Given the description of an element on the screen output the (x, y) to click on. 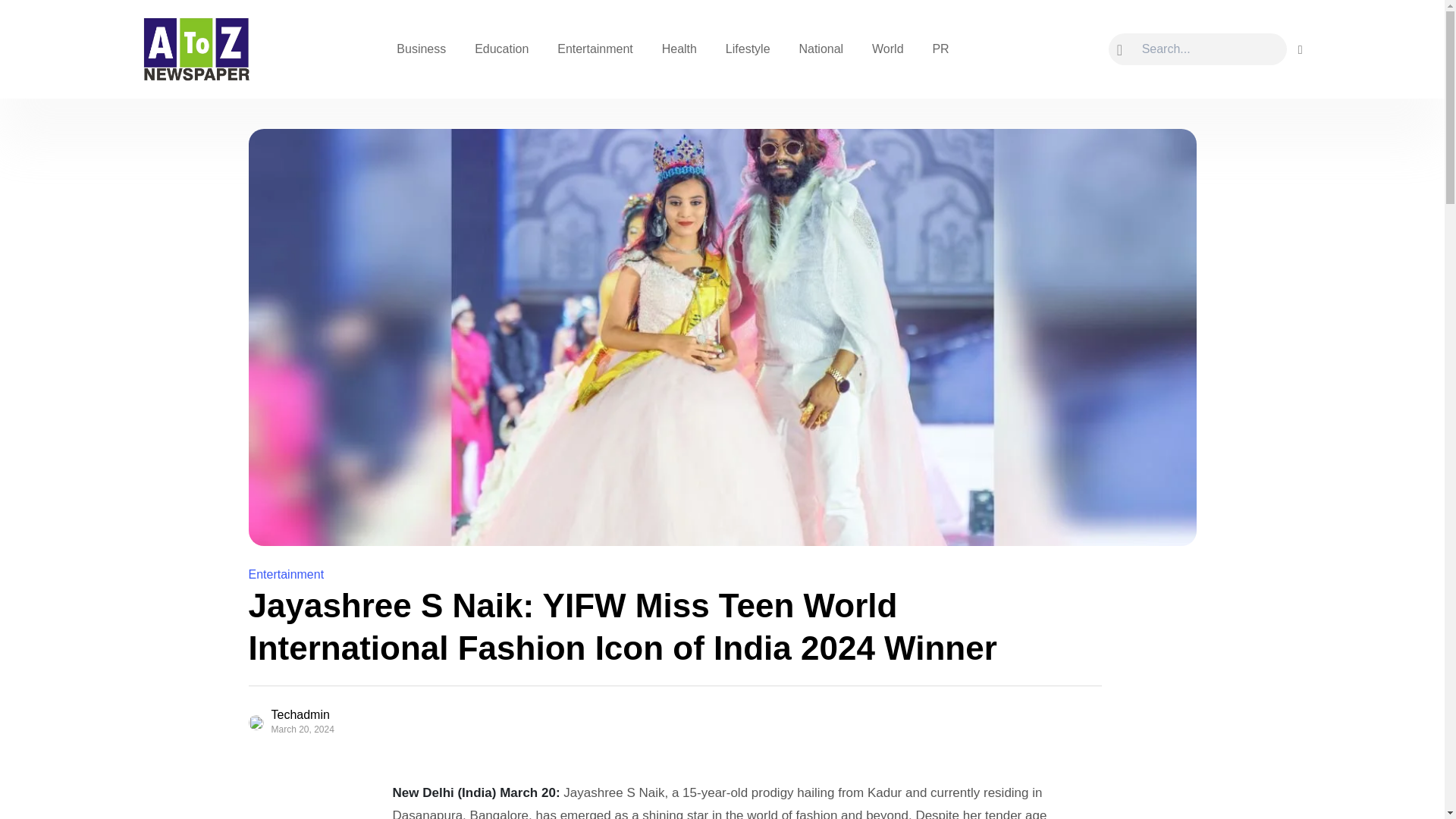
Health (679, 49)
Entertainment (595, 49)
Techadmin (307, 715)
Lifestyle (748, 49)
Business (421, 49)
Entertainment (286, 574)
PR (939, 49)
Education (501, 49)
World (888, 49)
National (821, 49)
